Given the description of an element on the screen output the (x, y) to click on. 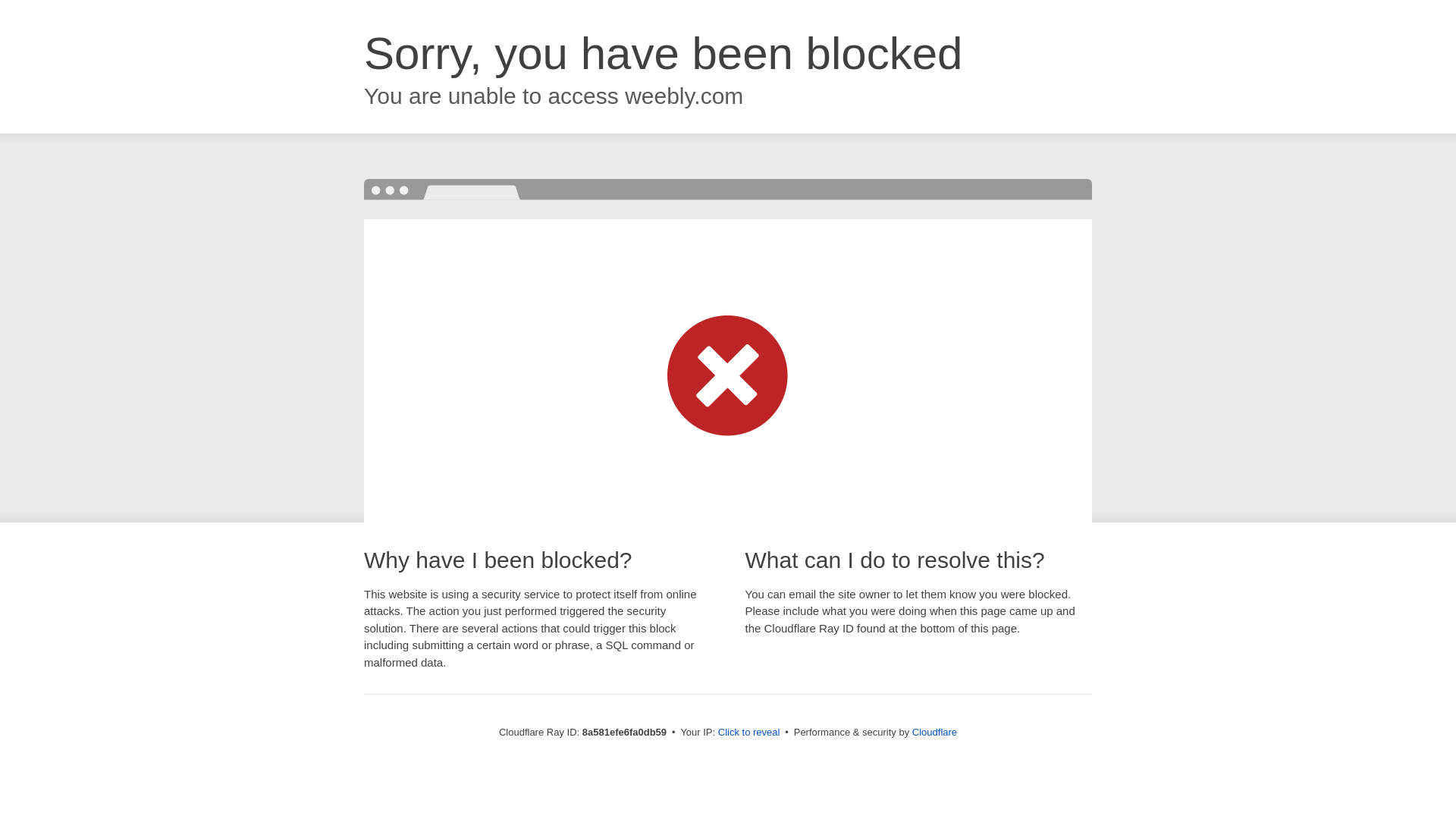
Cloudflare (934, 731)
Click to reveal (748, 732)
